Given the description of an element on the screen output the (x, y) to click on. 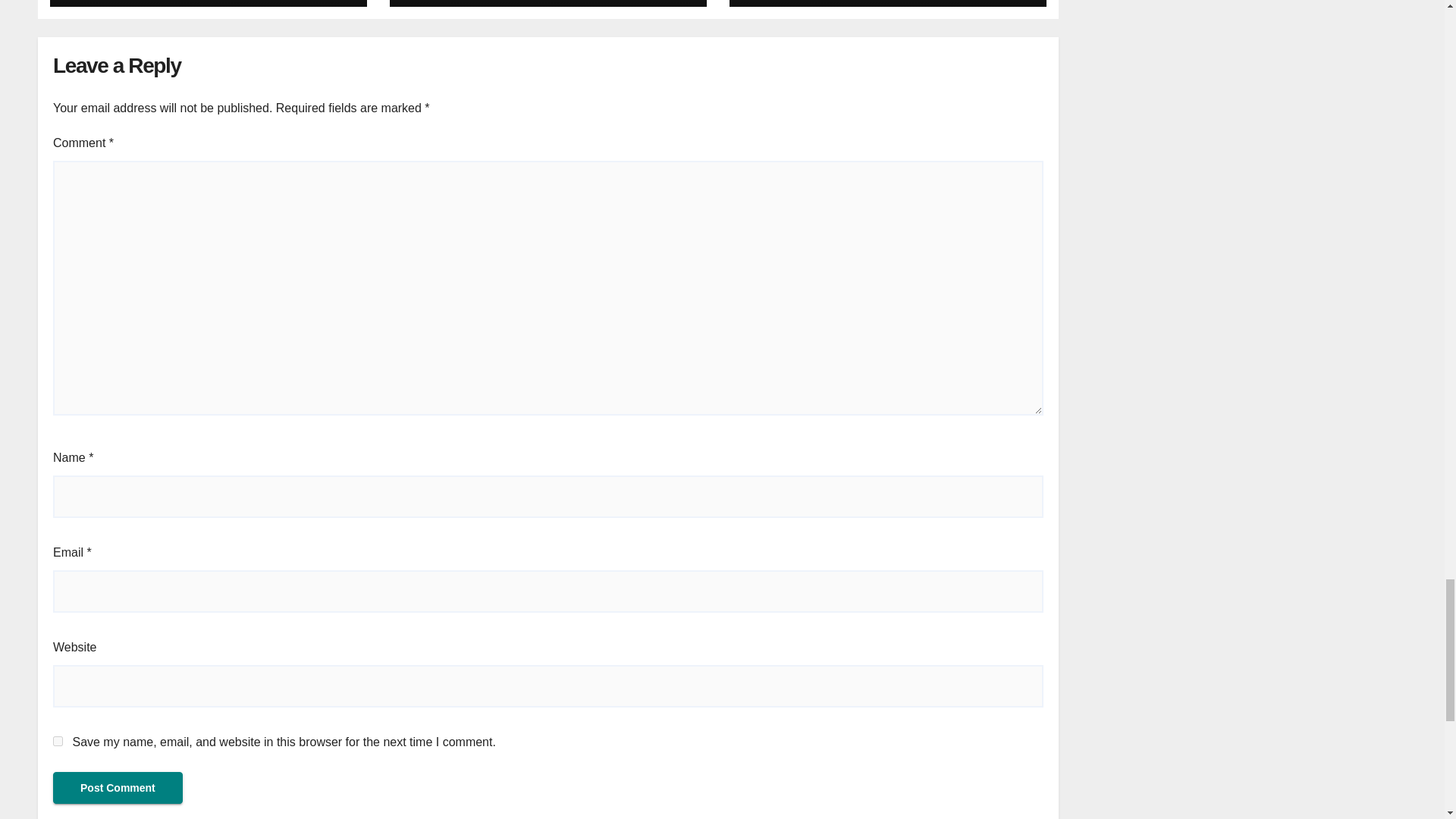
yes (57, 741)
Post Comment (117, 787)
Post Comment (117, 787)
